Given the description of an element on the screen output the (x, y) to click on. 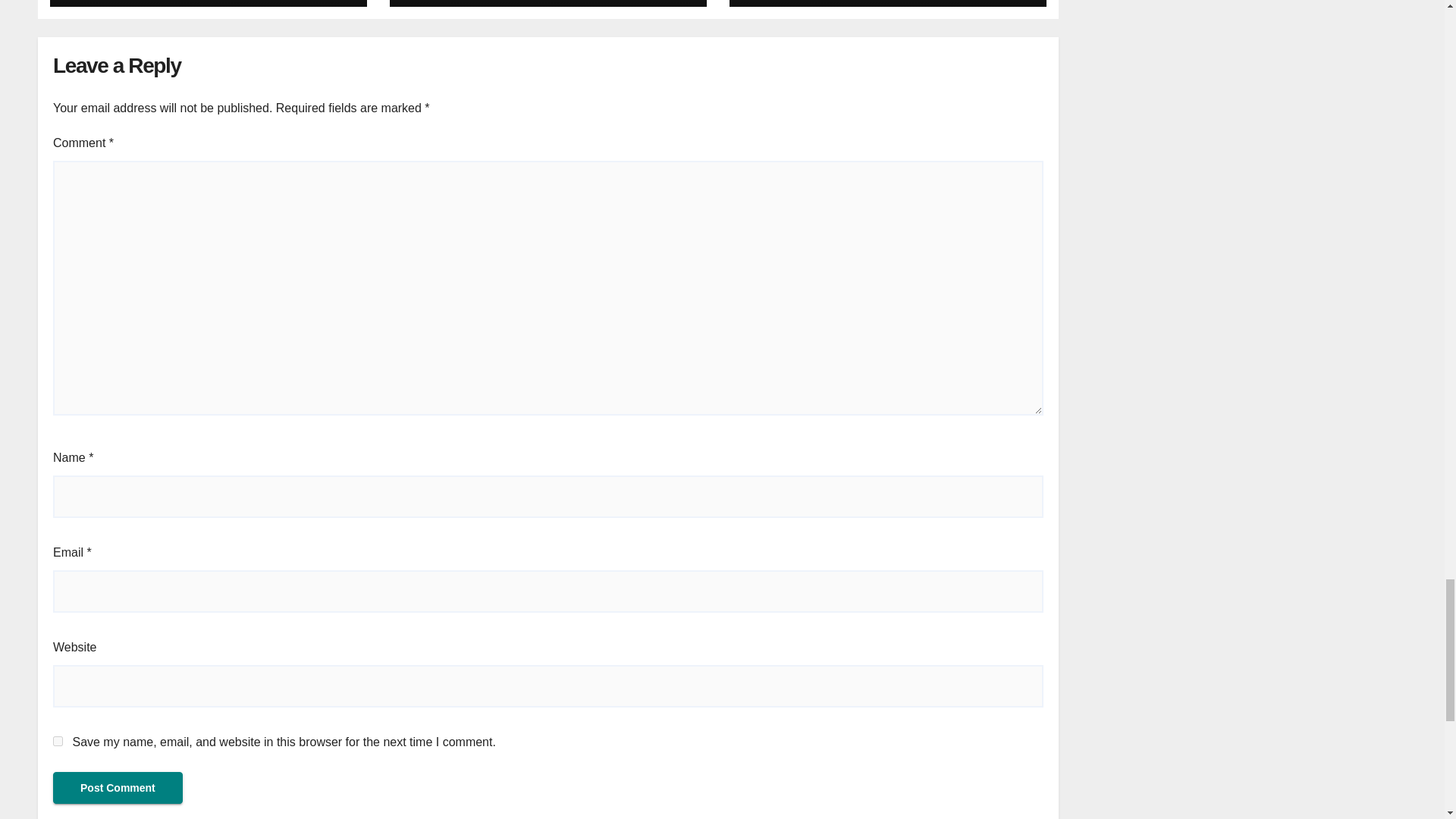
yes (57, 741)
Post Comment (117, 787)
Post Comment (117, 787)
